Given the description of an element on the screen output the (x, y) to click on. 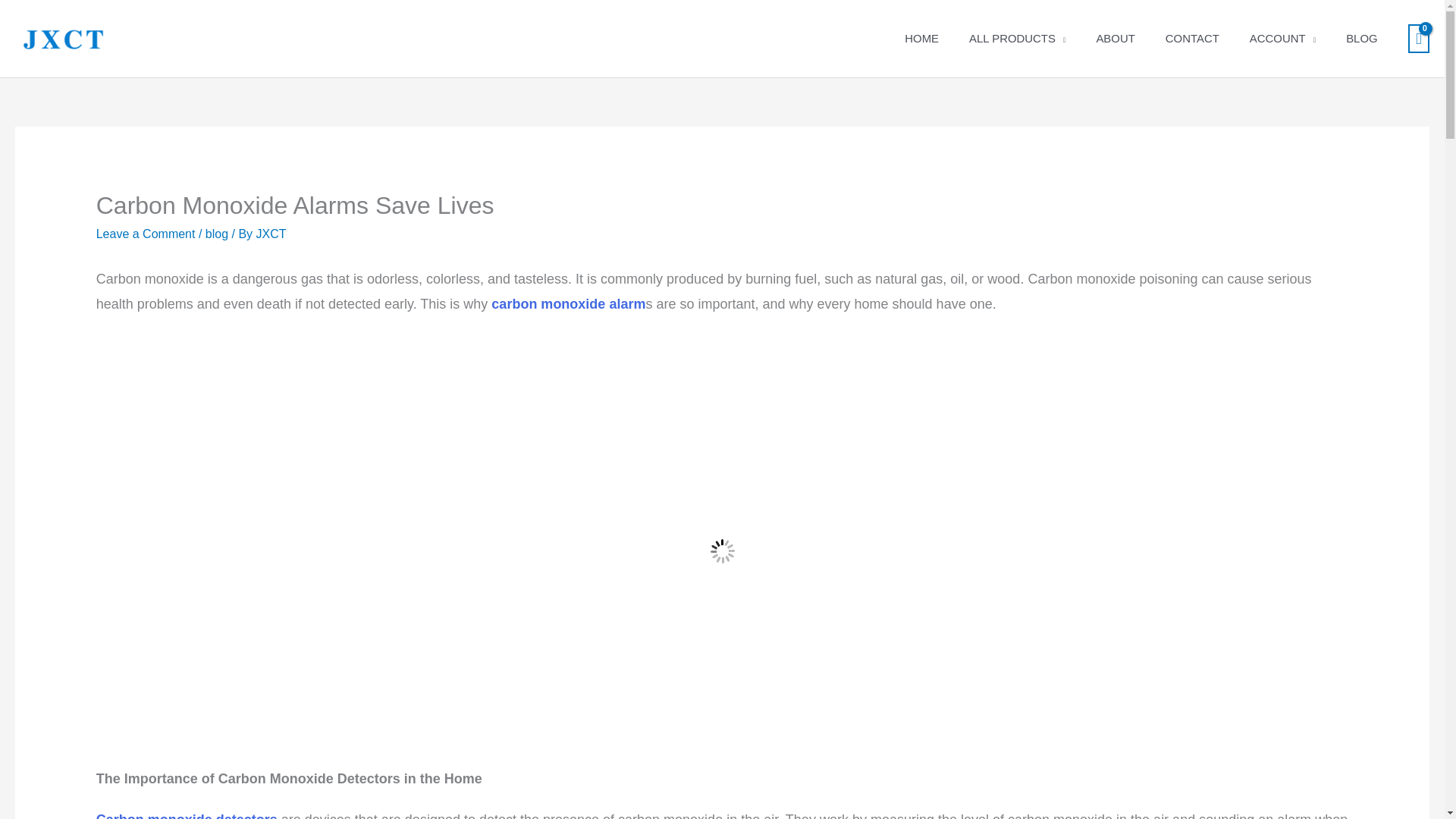
Carbon monoxide detectors (187, 815)
ABOUT (1115, 38)
BLOG (1360, 38)
Leave a Comment (145, 233)
JXCT (271, 233)
ACCOUNT (1282, 38)
HOME (921, 38)
carbon monoxide alarm (568, 304)
blog (216, 233)
View all posts by JXCT (271, 233)
